Given the description of an element on the screen output the (x, y) to click on. 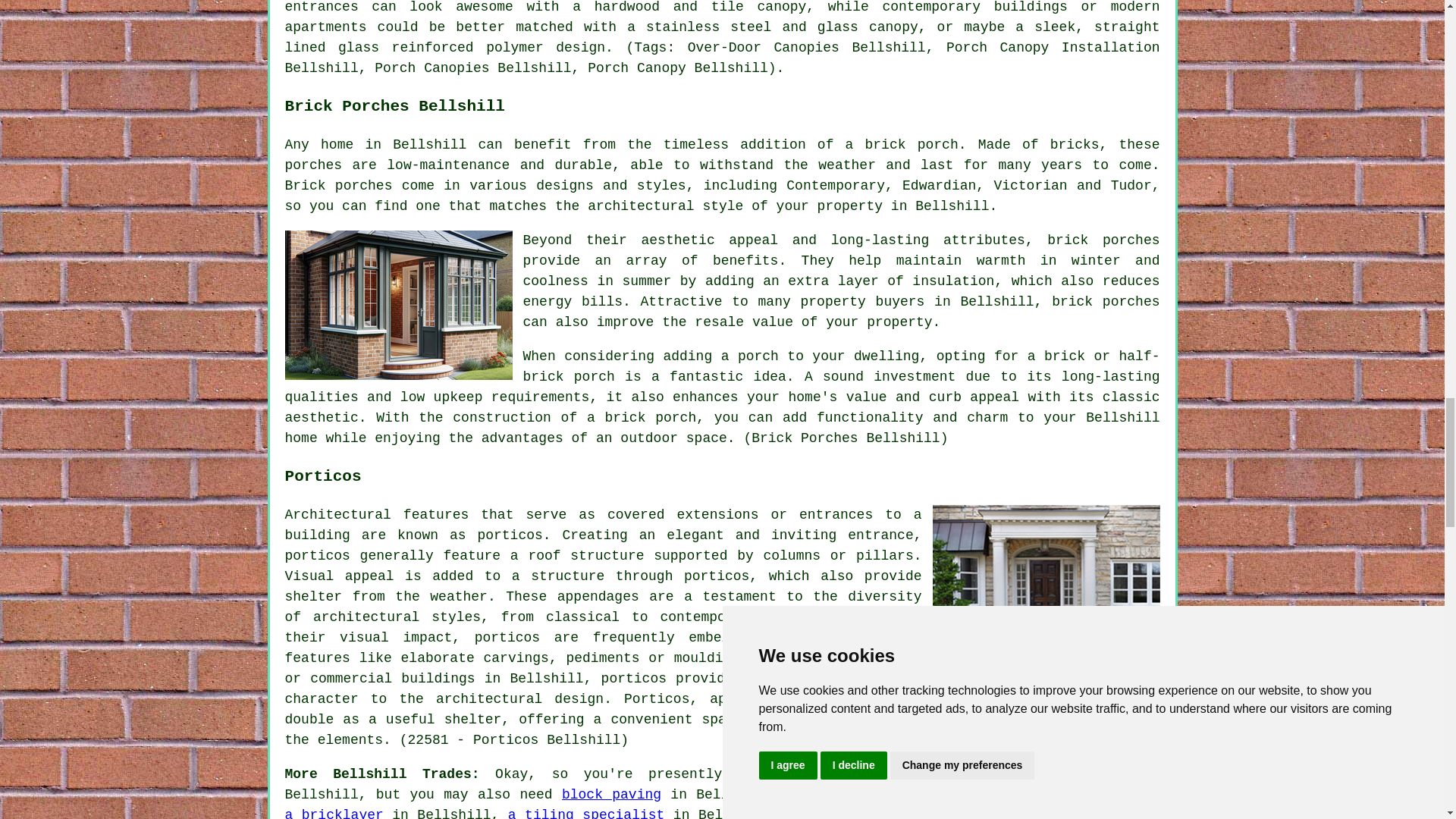
Porticos Bellshill (1046, 579)
porches (313, 165)
Brick Porches Bellshill (398, 305)
brick porches (1104, 301)
porticos (509, 534)
porticos (633, 678)
More Bellshill Tradesmen (1095, 791)
